Given the description of an element on the screen output the (x, y) to click on. 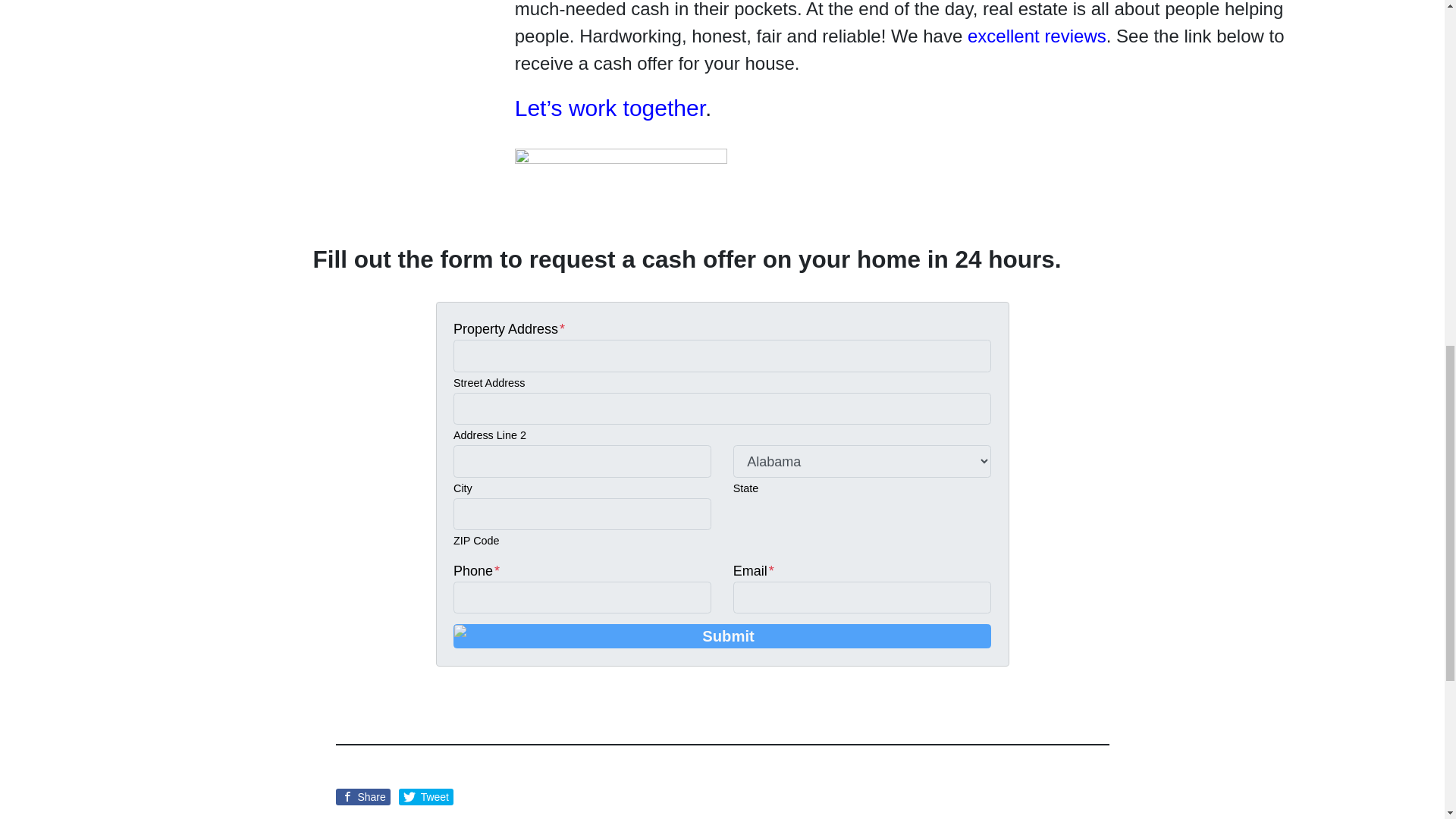
Share (362, 796)
excellent reviews (1037, 35)
Share on Facebook (362, 796)
Share on Twitter (425, 796)
Tweet (425, 796)
